Given the description of an element on the screen output the (x, y) to click on. 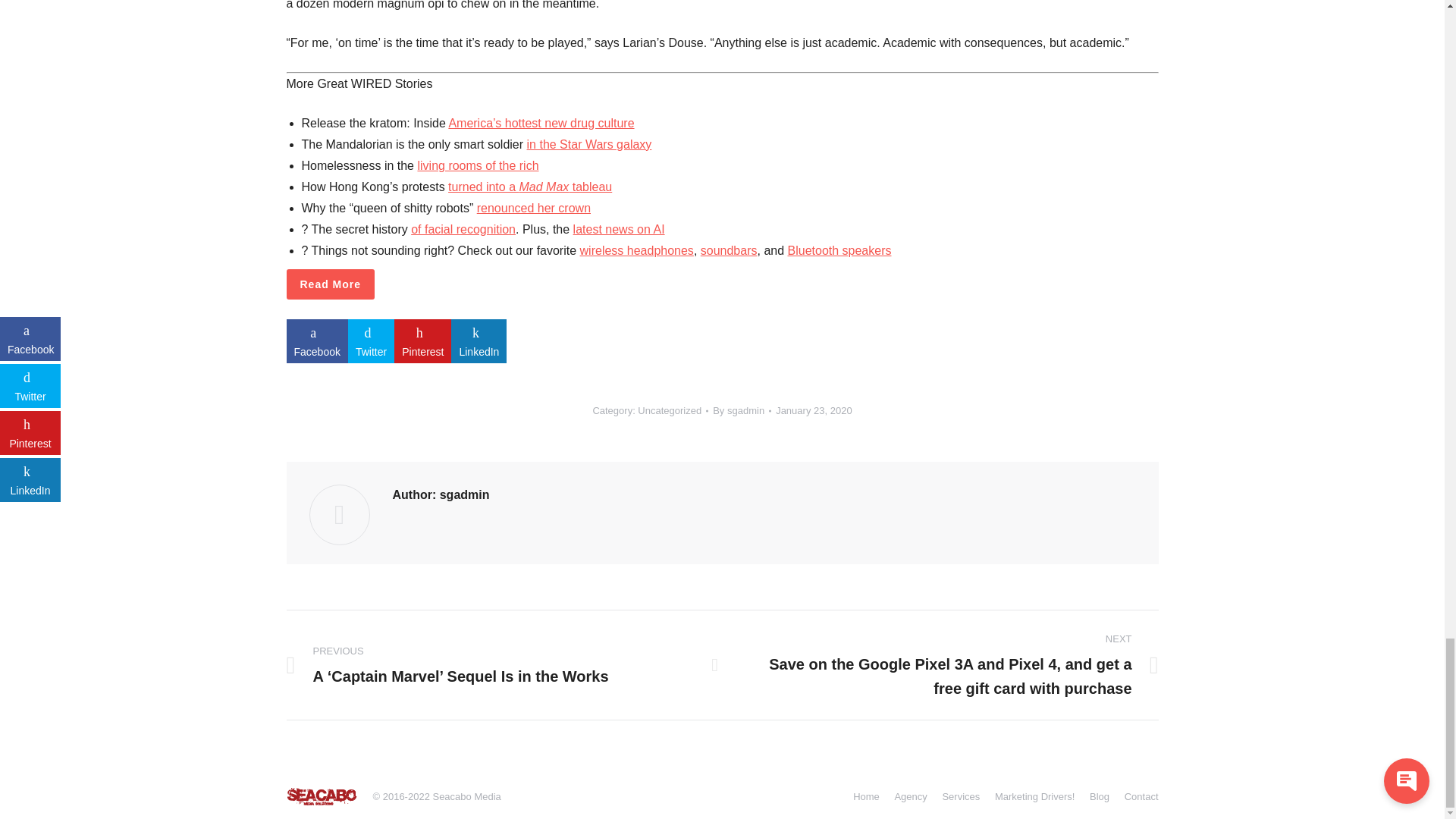
Share on Twitter (370, 341)
Share on Facebook (316, 341)
